Given the description of an element on the screen output the (x, y) to click on. 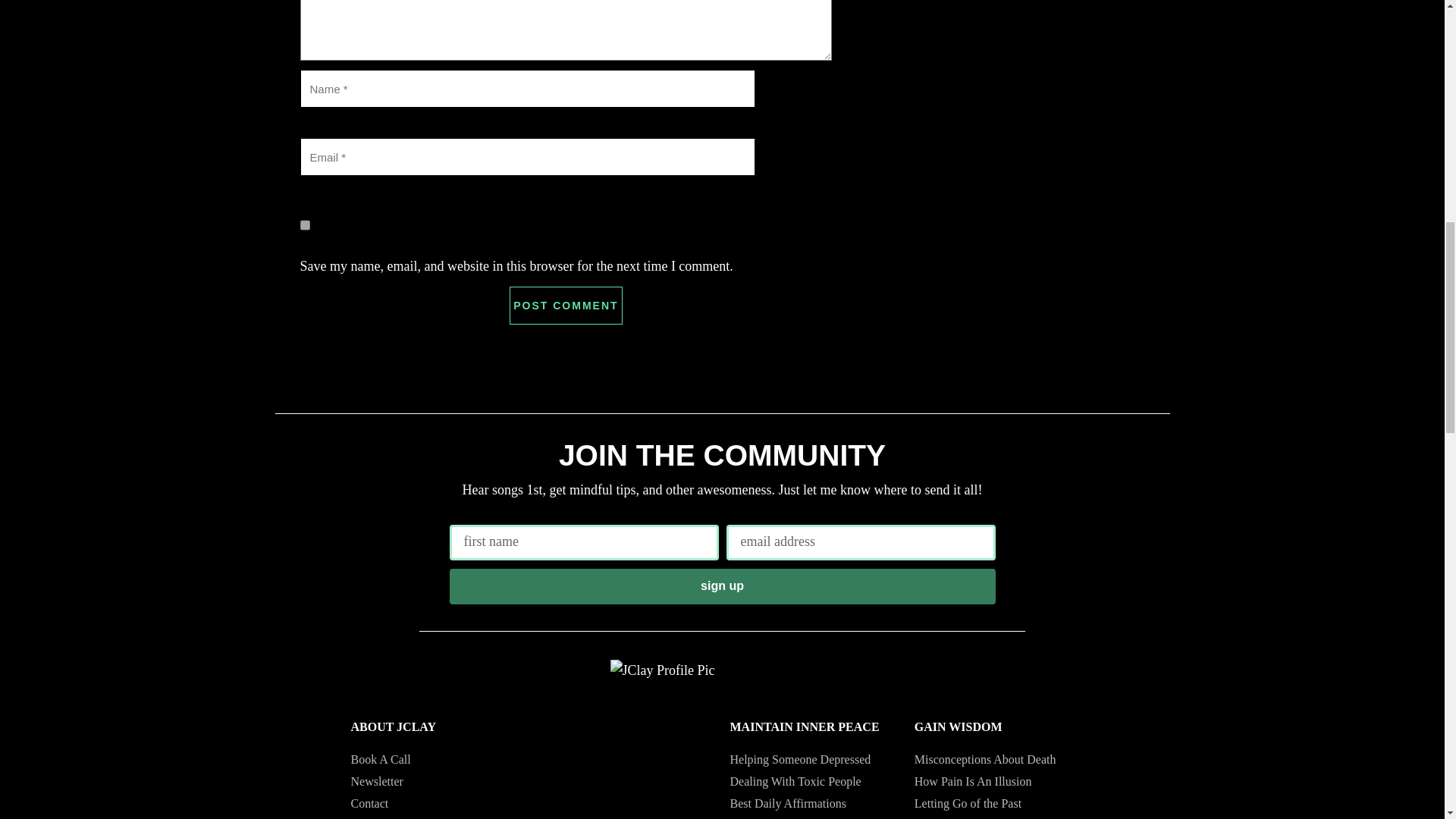
Post Comment (565, 305)
jclay-profile-pic (662, 670)
